Given the description of an element on the screen output the (x, y) to click on. 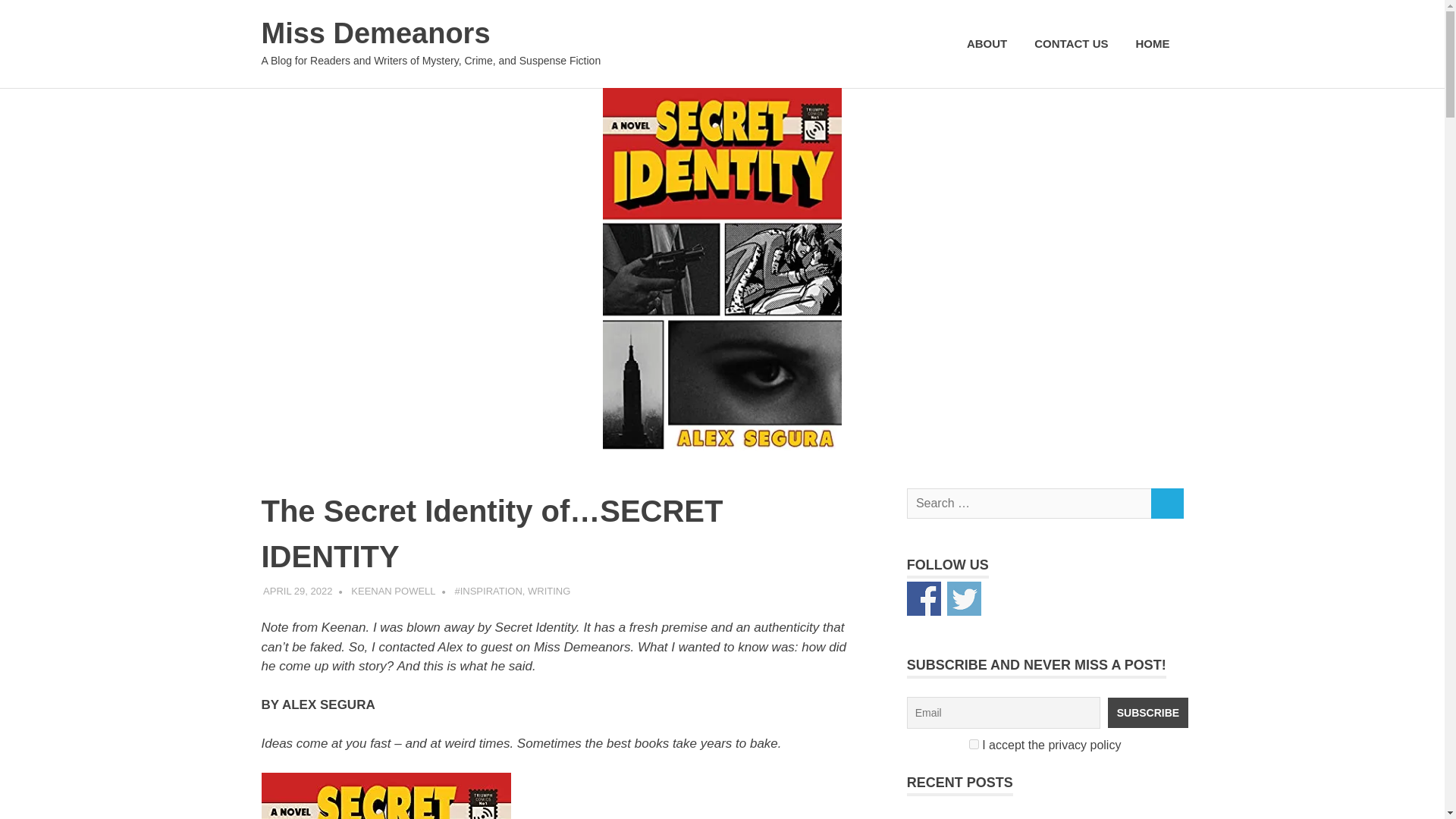
9:00 am (297, 591)
WRITING (548, 591)
ABOUT (986, 44)
Subscribe (1148, 712)
View all posts by Keenan Powell (392, 591)
Miss Demeanors (374, 33)
CONTACT US (1070, 44)
HOME (1152, 44)
APRIL 29, 2022 (297, 591)
on (973, 744)
KEENAN POWELL (392, 591)
Search for: (1029, 503)
